Given the description of an element on the screen output the (x, y) to click on. 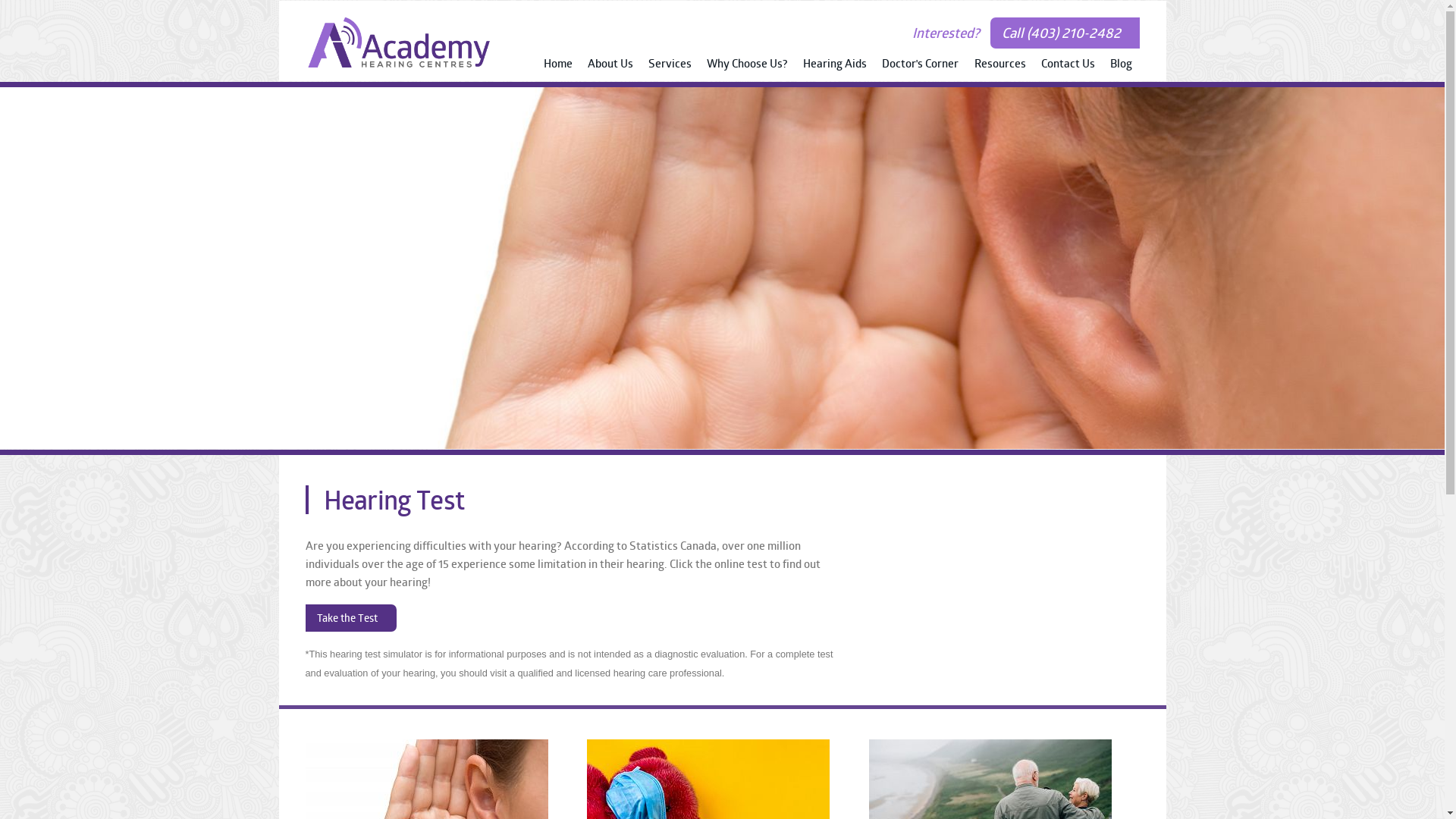
Resources Element type: text (999, 64)
Contact Us Element type: text (1066, 64)
Take the Test Element type: text (349, 617)
Hearing Test Element type: hover (722, 267)
Blog Element type: text (1120, 64)
About Us Element type: text (610, 64)
Doctor's Corner Element type: text (920, 64)
Services Element type: text (669, 64)
Home Element type: text (558, 64)
Why Choose Us? Element type: text (747, 64)
Hearing Aids Element type: text (834, 64)
Call (403) 210-2482 Element type: text (1064, 32)
